Given the description of an element on the screen output the (x, y) to click on. 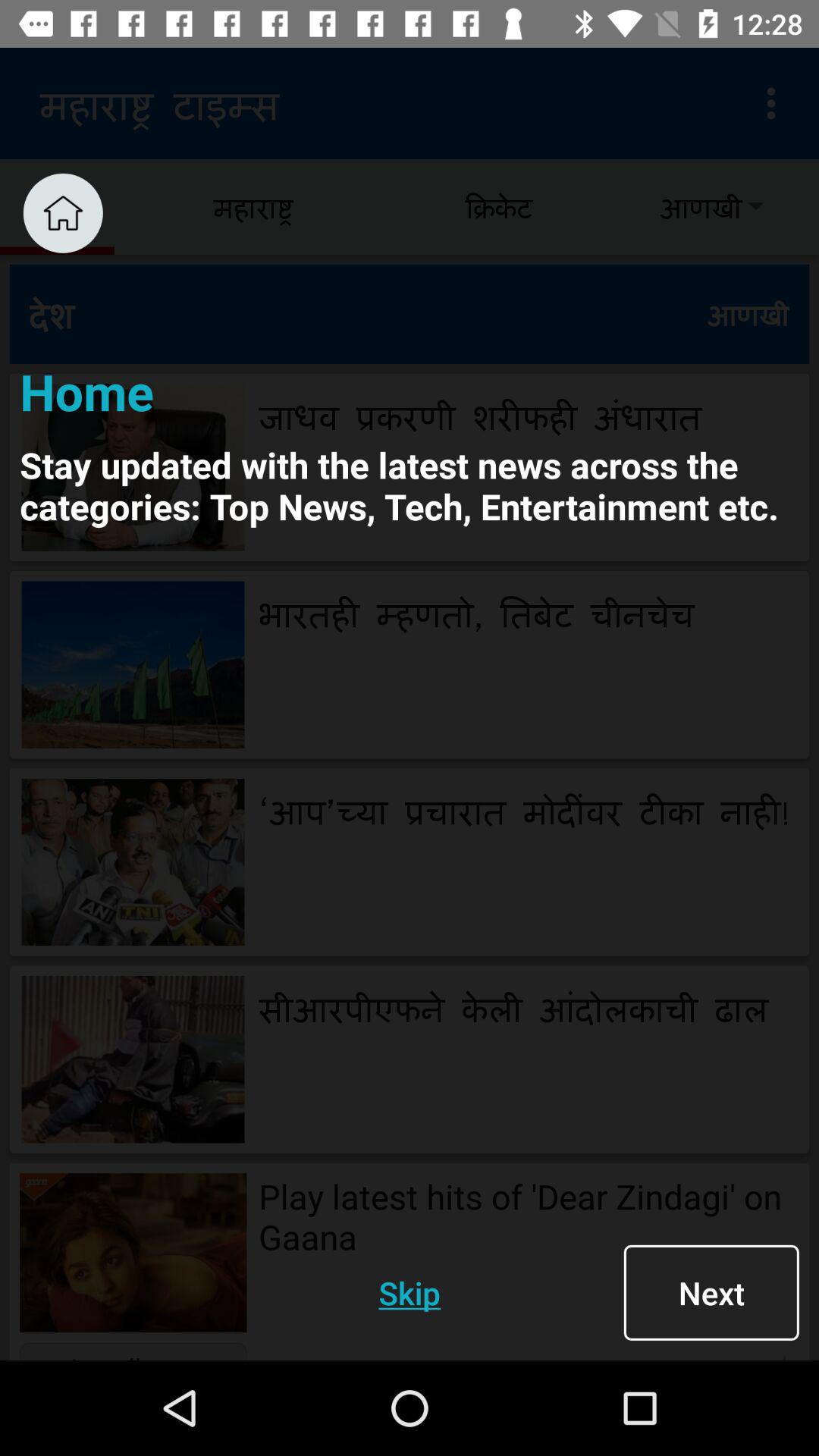
click home menu (62, 213)
